Given the description of an element on the screen output the (x, y) to click on. 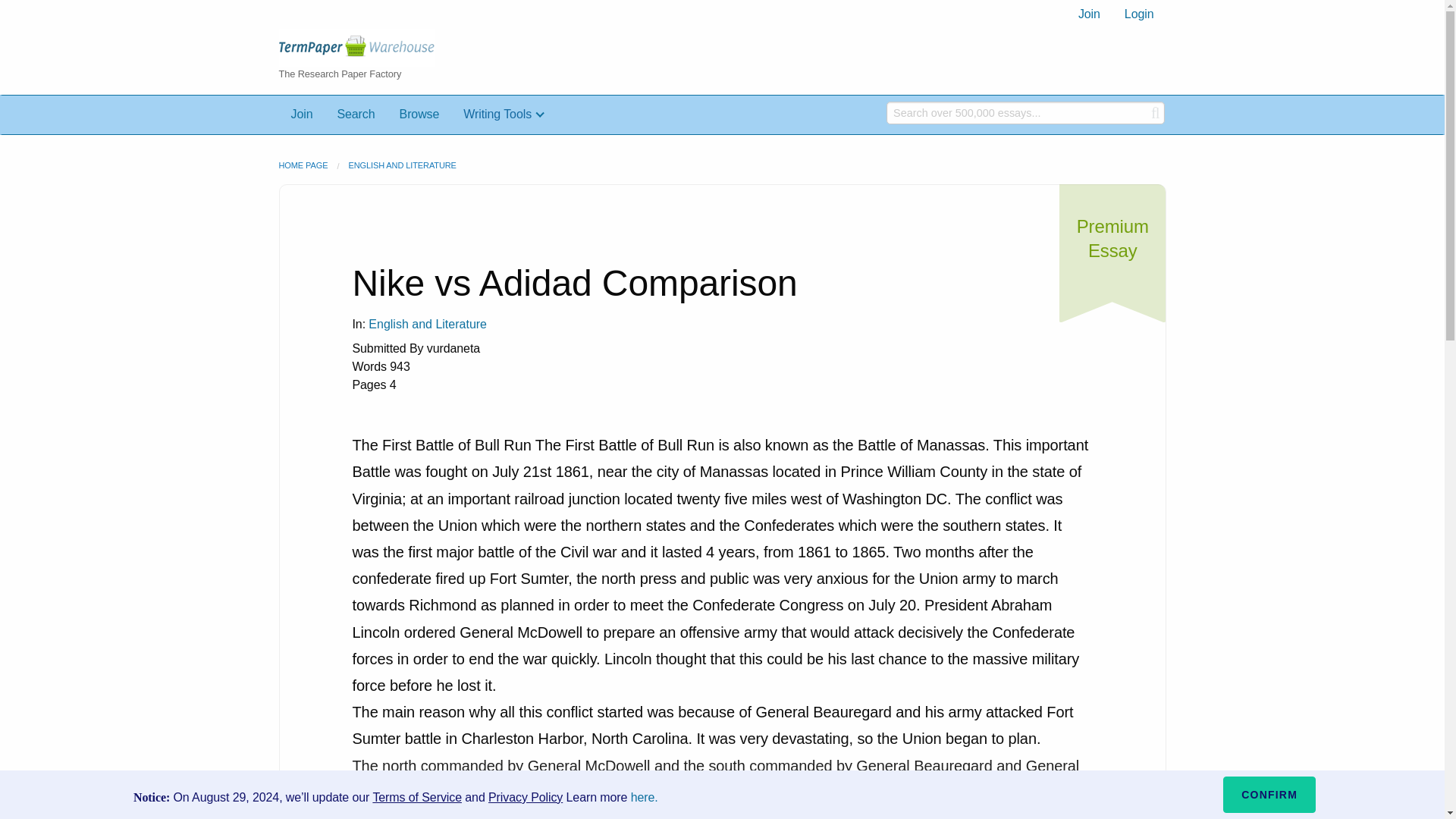
Join (301, 113)
ENGLISH AND LITERATURE (401, 164)
Privacy Policy (524, 797)
The Research Paper Factory (381, 61)
here. (644, 797)
CONFIRM (1269, 794)
Browse (419, 113)
English and Literature (427, 323)
Login (1139, 14)
Terms of Service (416, 797)
Join (1088, 14)
HOME PAGE (304, 164)
Writing Tools (504, 113)
English and Literature (427, 324)
Search (355, 113)
